Given the description of an element on the screen output the (x, y) to click on. 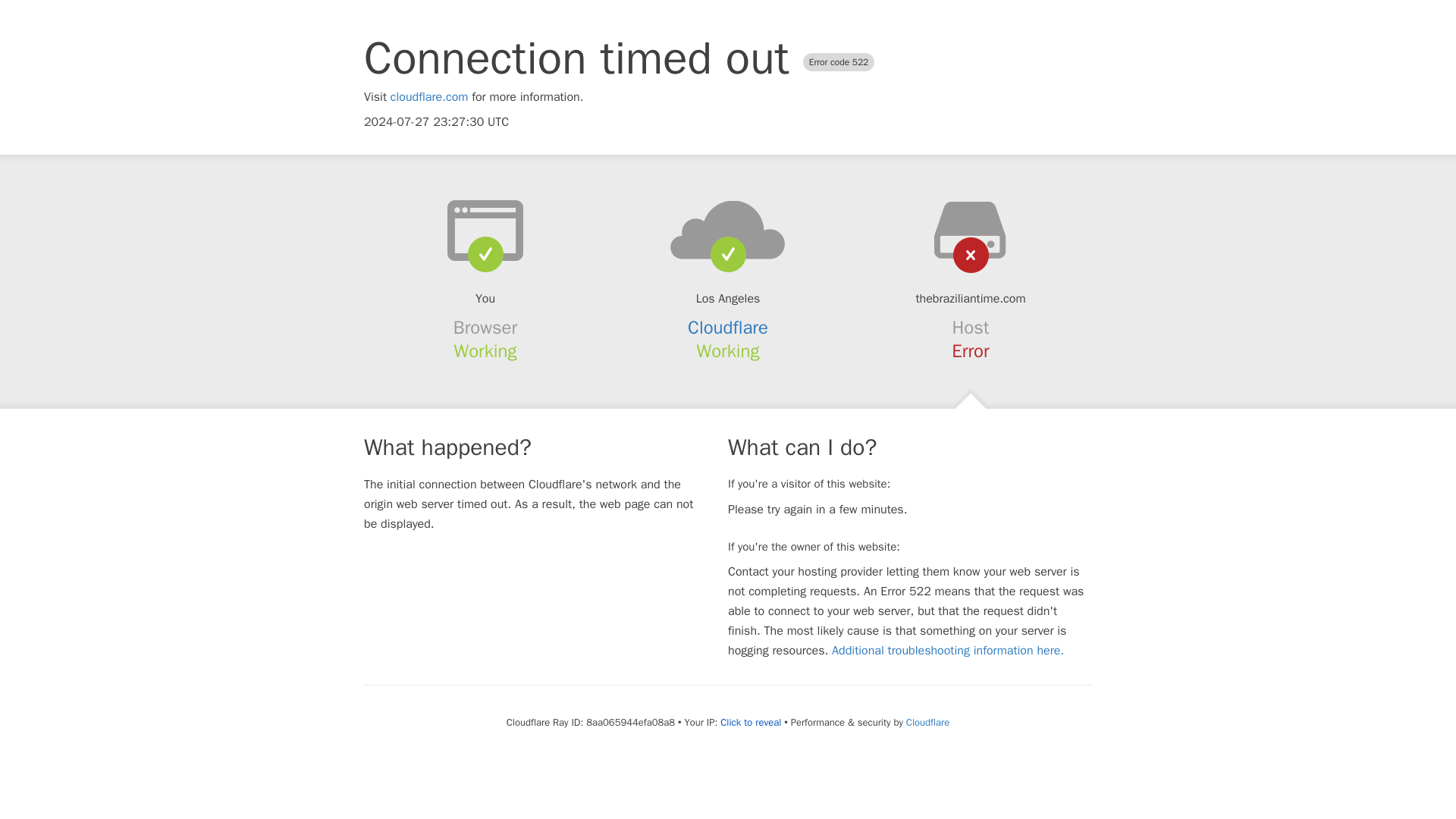
Cloudflare (727, 327)
Cloudflare (927, 721)
Additional troubleshooting information here. (947, 650)
cloudflare.com (429, 96)
Click to reveal (750, 722)
